Given the description of an element on the screen output the (x, y) to click on. 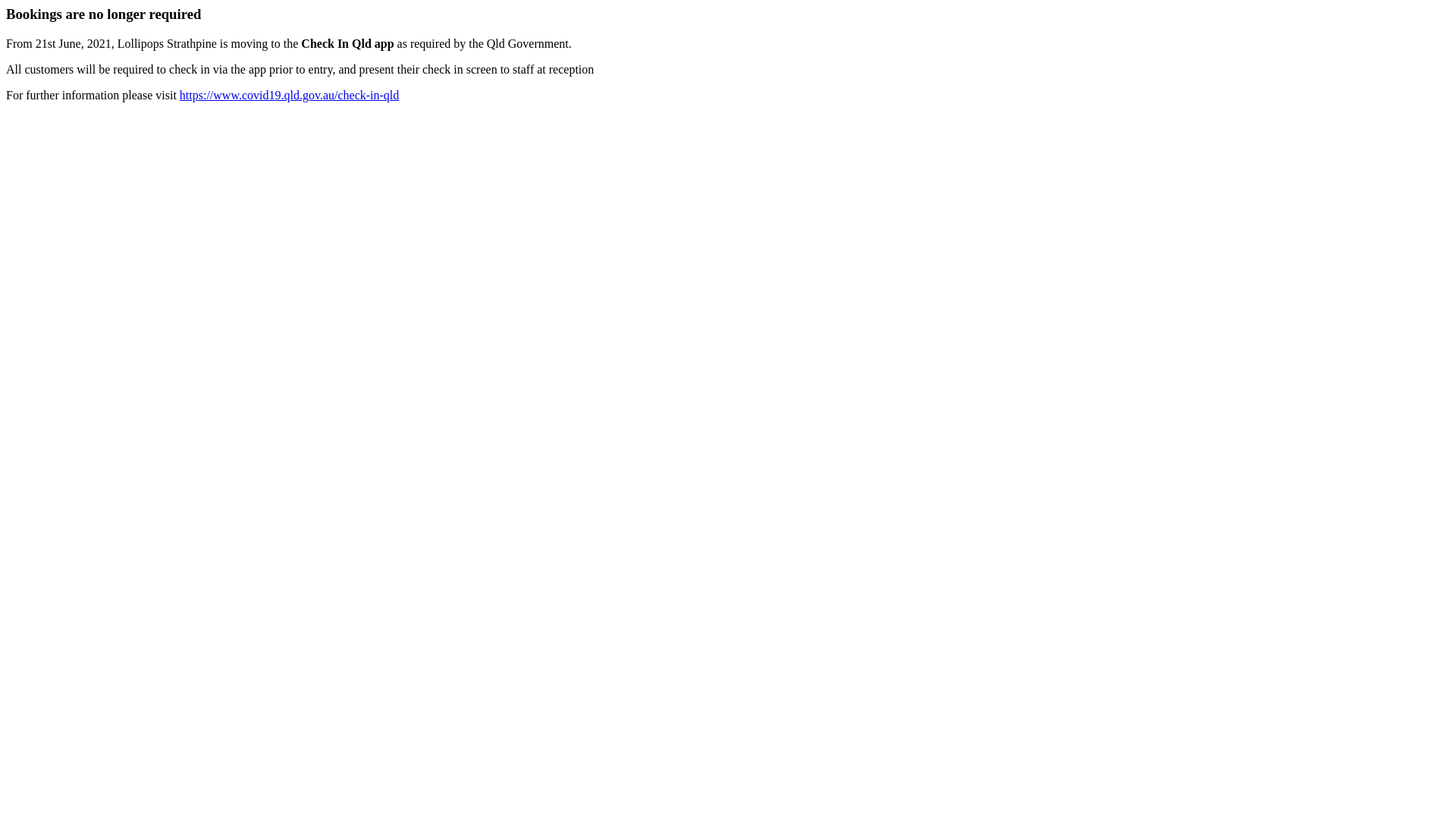
https://www.covid19.qld.gov.au/check-in-qld Element type: text (288, 94)
